Given the description of an element on the screen output the (x, y) to click on. 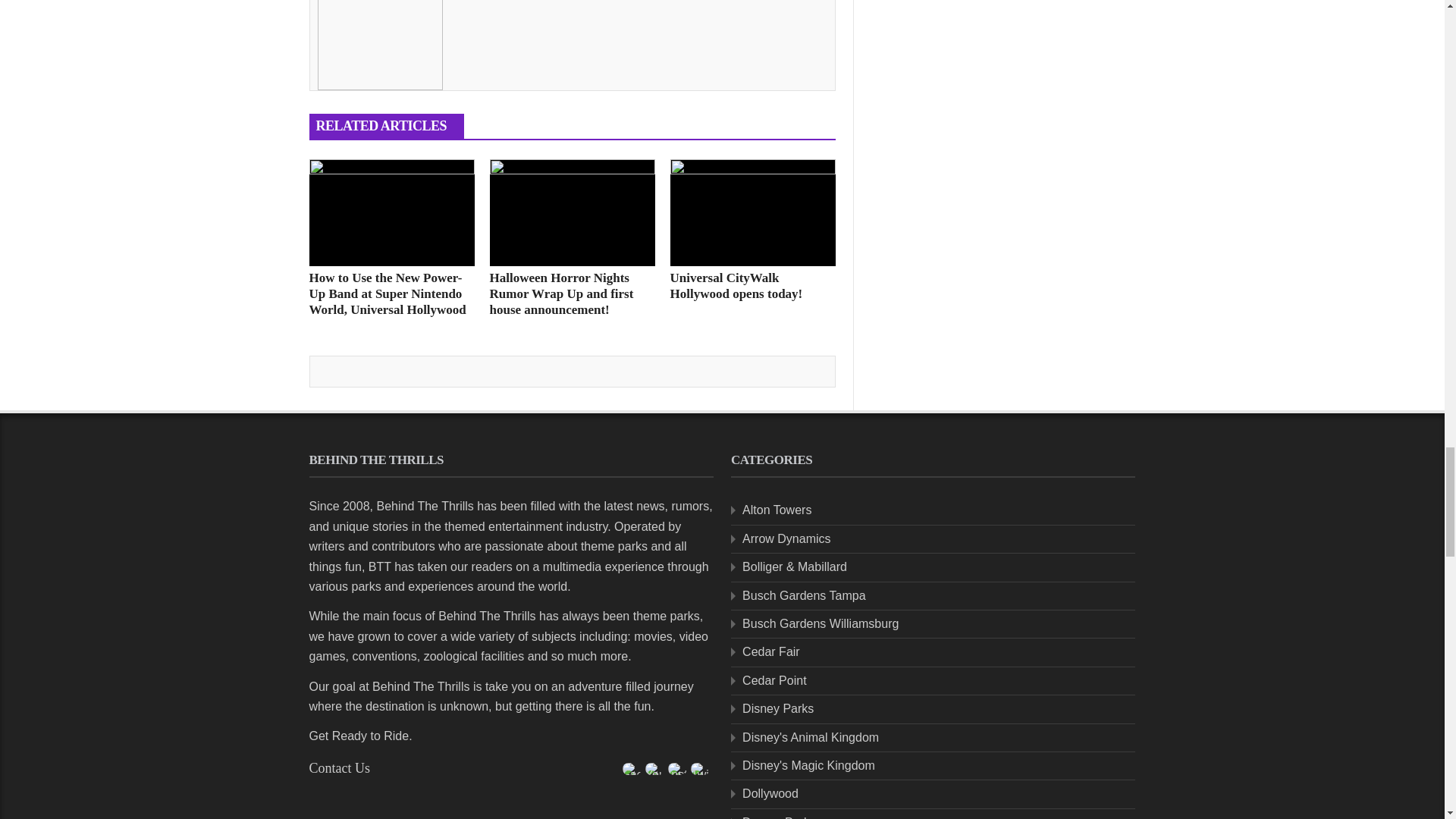
Universal CityWalk Hollywood opens today! (752, 212)
